Given the description of an element on the screen output the (x, y) to click on. 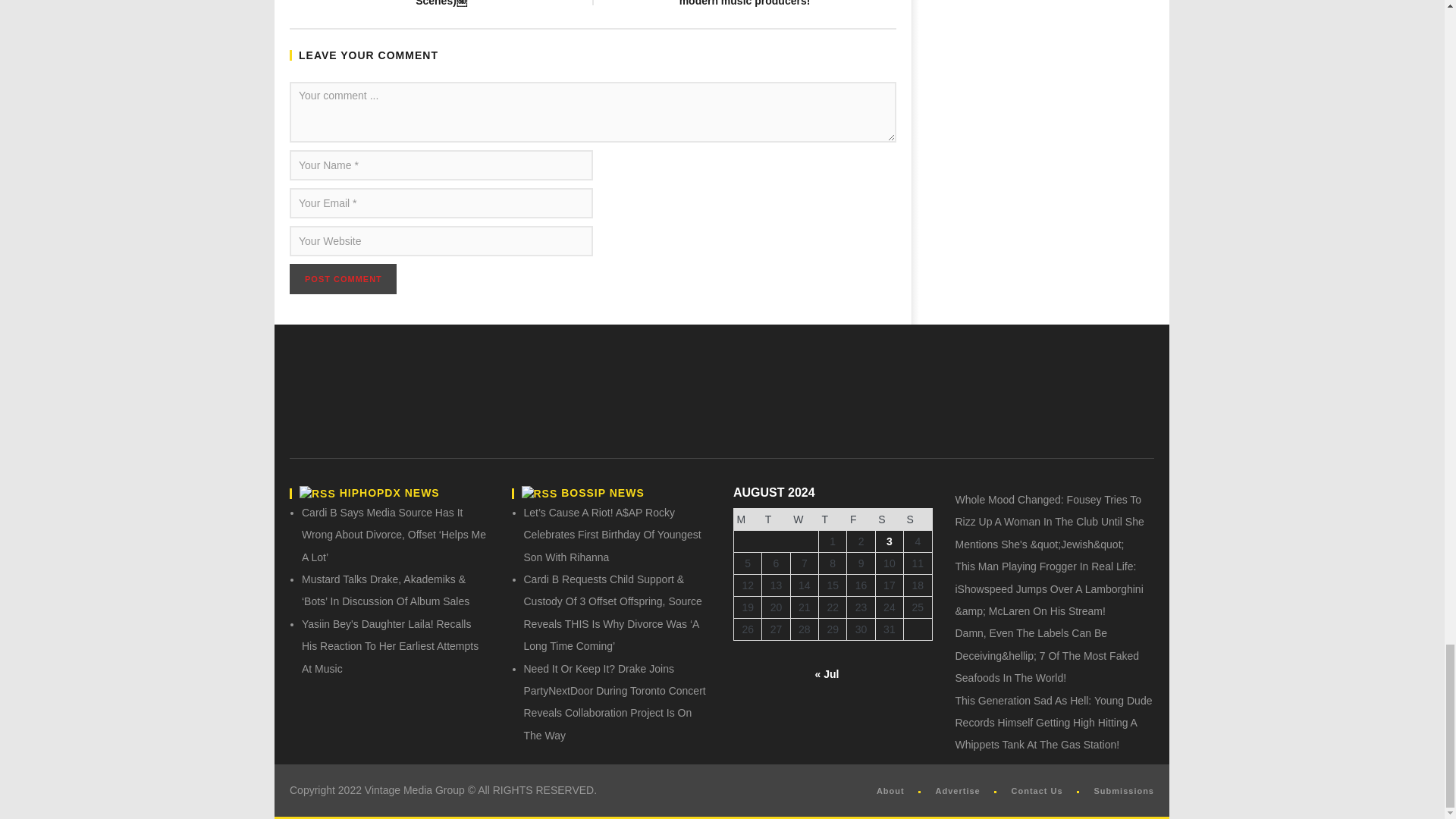
Post Comment (342, 278)
